Given the description of an element on the screen output the (x, y) to click on. 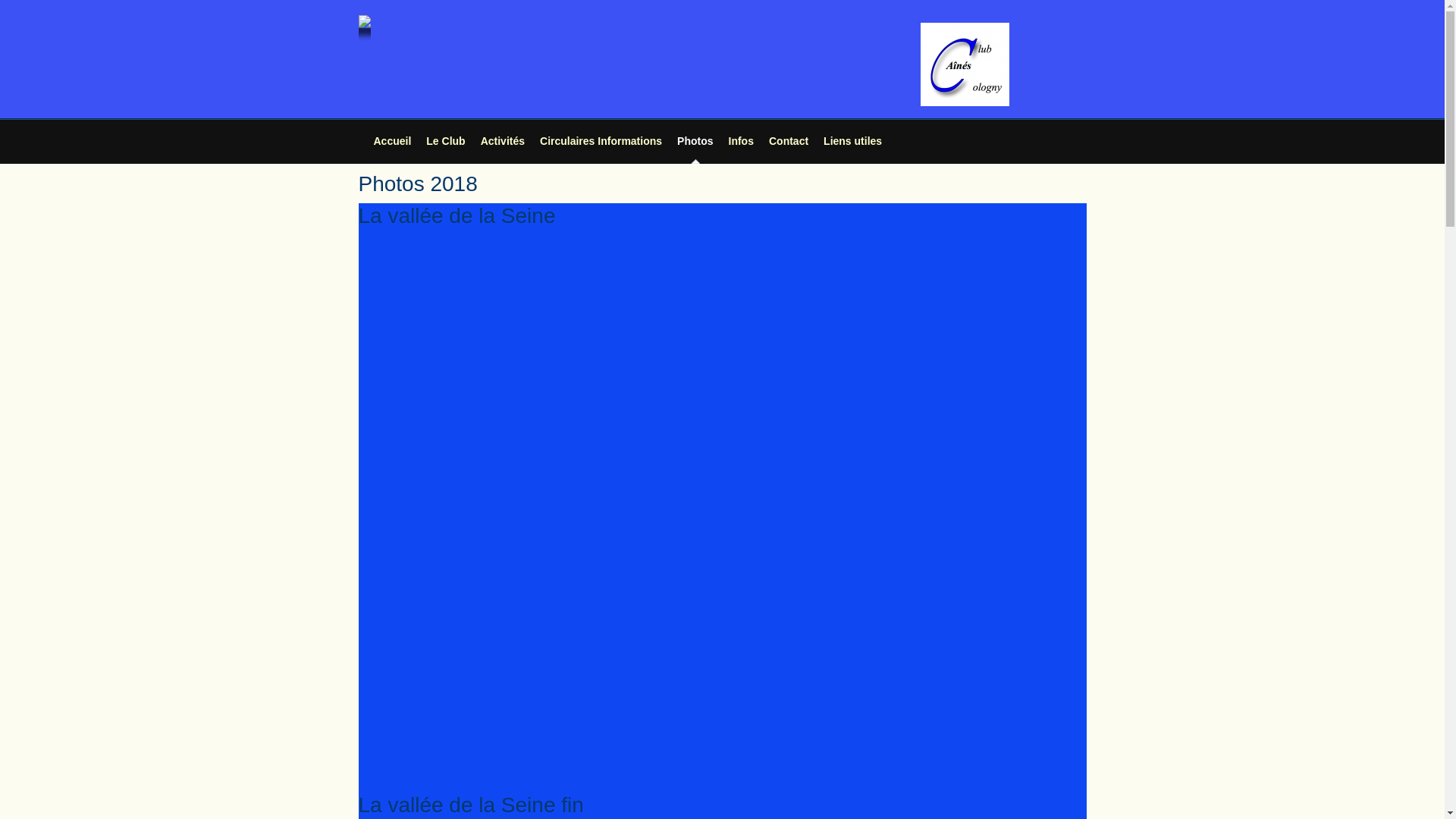
Pont de Normandie Element type: hover (1010, 699)
EgliseSainte Jeanne d'Arc Element type: hover (867, 561)
Circulaires Informations Element type: text (600, 140)
Office du tourisme Element type: hover (436, 660)
Le Club Element type: text (445, 140)
Chateau de La Roche Guyon Element type: hover (580, 778)
verso Element type: hover (580, 621)
Photos Element type: text (694, 140)
Pont de Normandie Element type: hover (867, 660)
sous la pluie Element type: hover (436, 680)
Les cheminots Element type: hover (580, 640)
Contact Element type: text (788, 140)
L'aiguille creuse... Element type: hover (436, 759)
La maison de Claud Monet Element type: hover (867, 344)
Rouen by night Element type: hover (723, 660)
Le palais de justice Element type: hover (580, 601)
Rouen Element type: hover (580, 522)
Etretat Element type: hover (867, 739)
Infos Element type: text (740, 140)
Accueil Element type: text (392, 140)
L'horloge recto Element type: hover (1010, 601)
A quai au pieds de la tour Eiffel Element type: hover (867, 246)
Eglise Sainte Catherine Element type: hover (580, 699)
Liens utiles Element type: text (852, 140)
Estampes japonaises Element type: hover (1010, 384)
Repas  Element type: hover (723, 246)
